Given the description of an element on the screen output the (x, y) to click on. 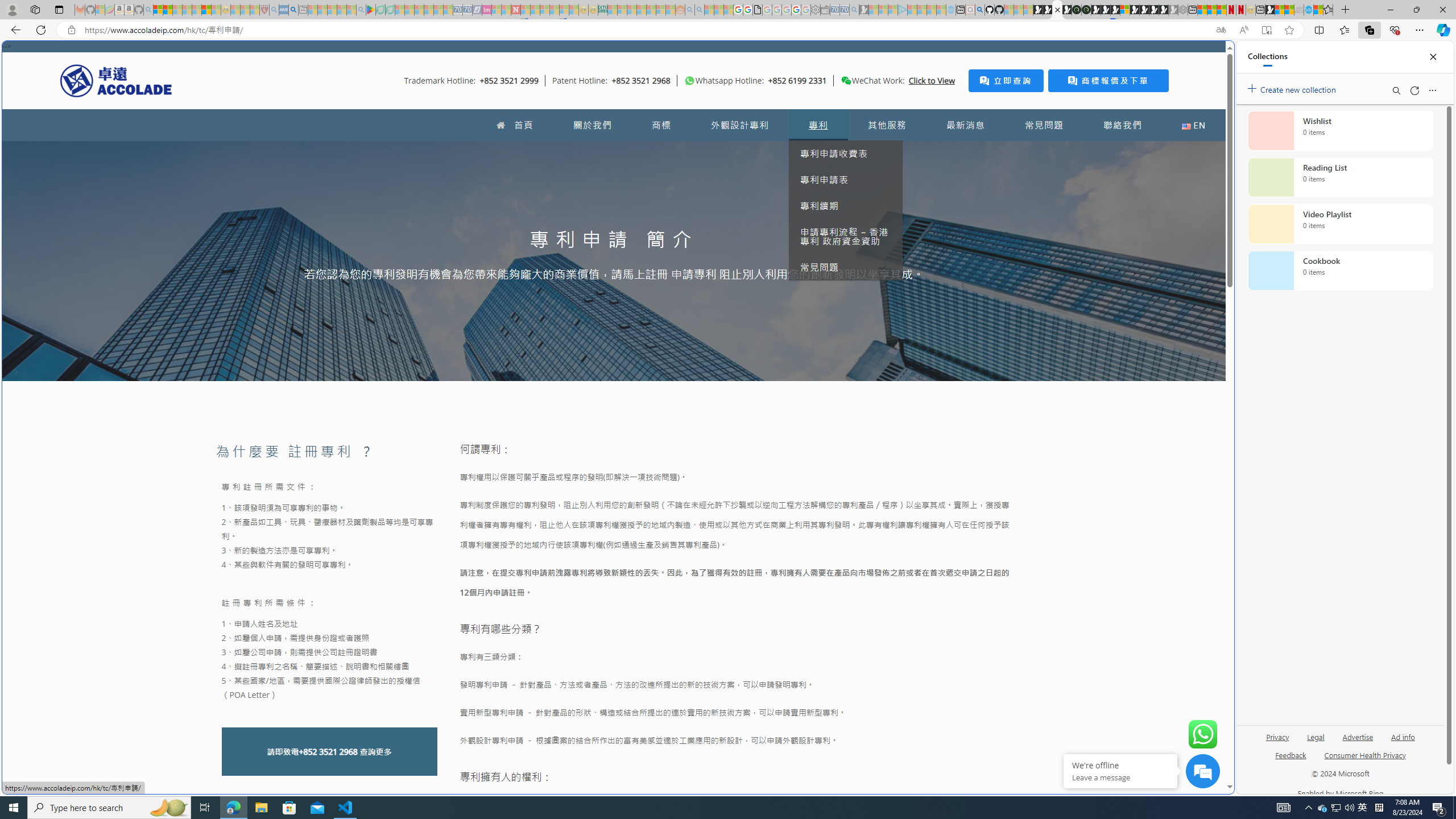
Bluey: Let's Play! - Apps on Google Play (370, 9)
EN (1193, 124)
EN (1193, 124)
Tabs you've opened (885, 151)
Accolade IP HK Logo (116, 80)
